Given the description of an element on the screen output the (x, y) to click on. 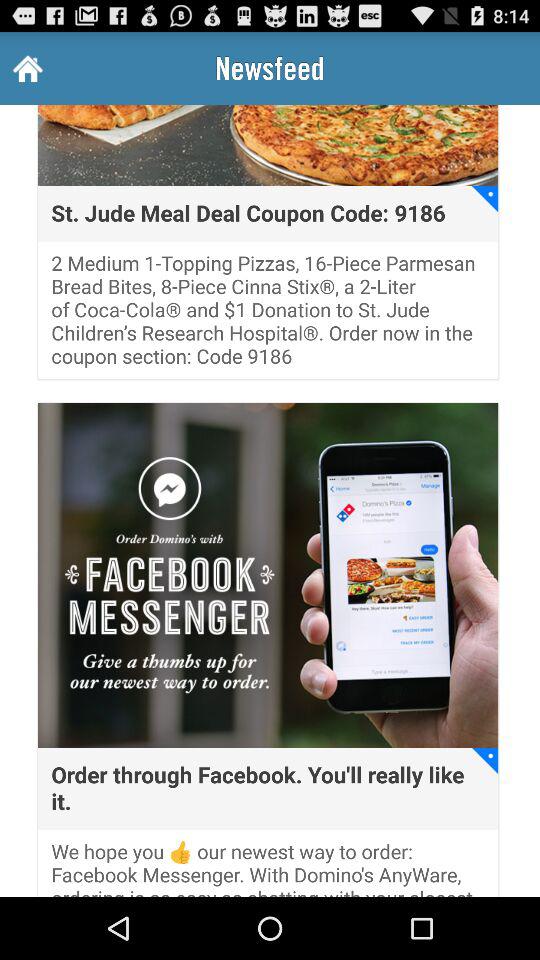
choose icon above 2 medium 1 item (485, 198)
